Given the description of an element on the screen output the (x, y) to click on. 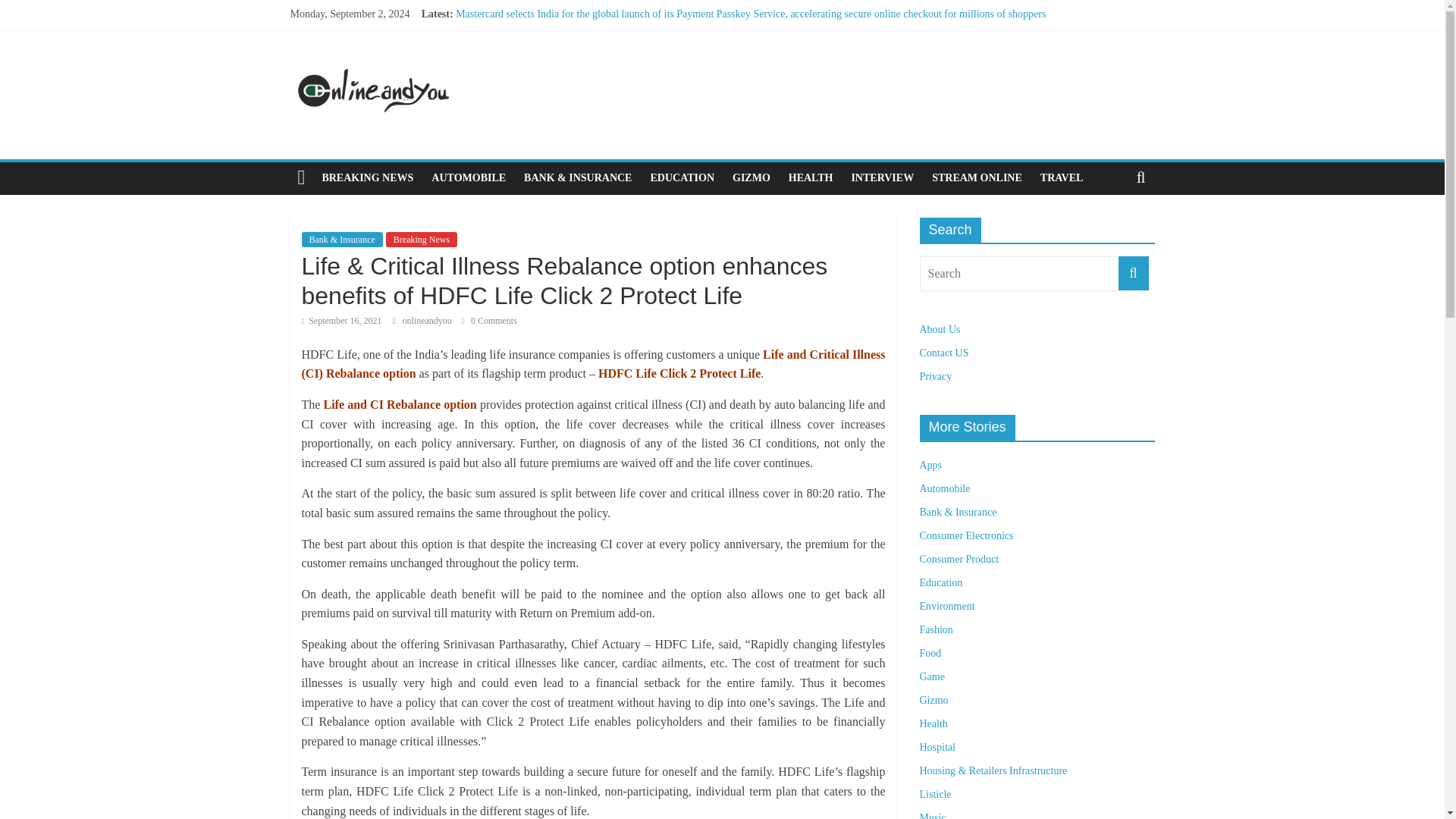
HEALTH (810, 178)
EDUCATION (681, 178)
3:10 pm (341, 320)
STREAM ONLINE (976, 178)
onlineandyou (428, 320)
Breaking News (421, 239)
0 Comments (488, 320)
